Given the description of an element on the screen output the (x, y) to click on. 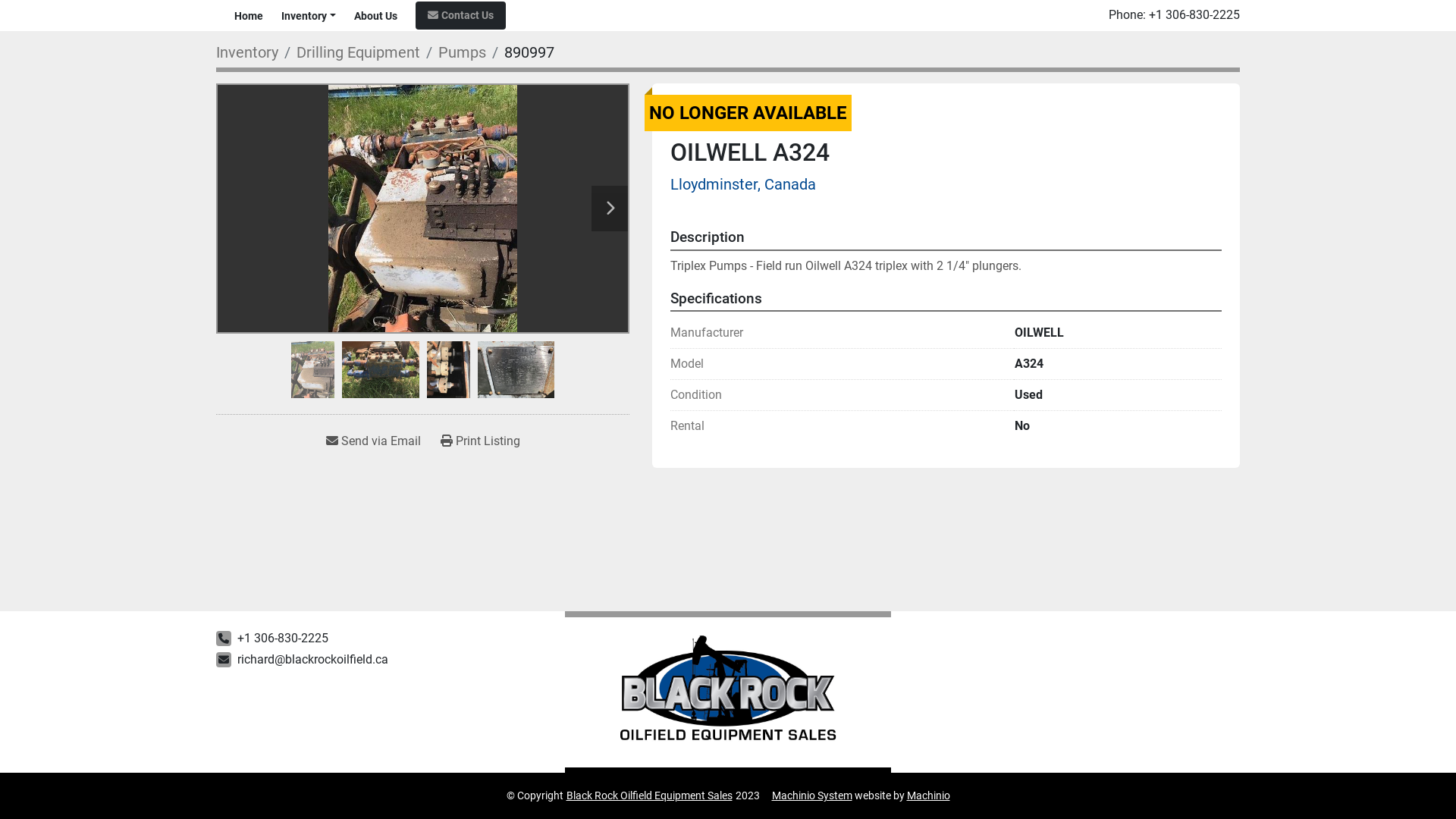
Contact Us Element type: text (460, 15)
Black Rock Oilfield Equipment Sales Element type: text (648, 795)
+1 306-830-2225 Element type: text (282, 638)
richard@blackrockoilfield.ca Element type: text (312, 659)
Home Element type: text (248, 15)
Inventory Element type: text (303, 15)
+1 306-830-2225 Element type: text (1193, 15)
Machinio Element type: text (928, 795)
Inventory Element type: text (247, 52)
Print Listing Element type: text (480, 440)
Machinio System Element type: text (811, 795)
Pumps Element type: text (462, 52)
Drilling Equipment Element type: text (358, 52)
Send via Email Element type: text (372, 440)
About Us Element type: text (375, 15)
